Given the description of an element on the screen output the (x, y) to click on. 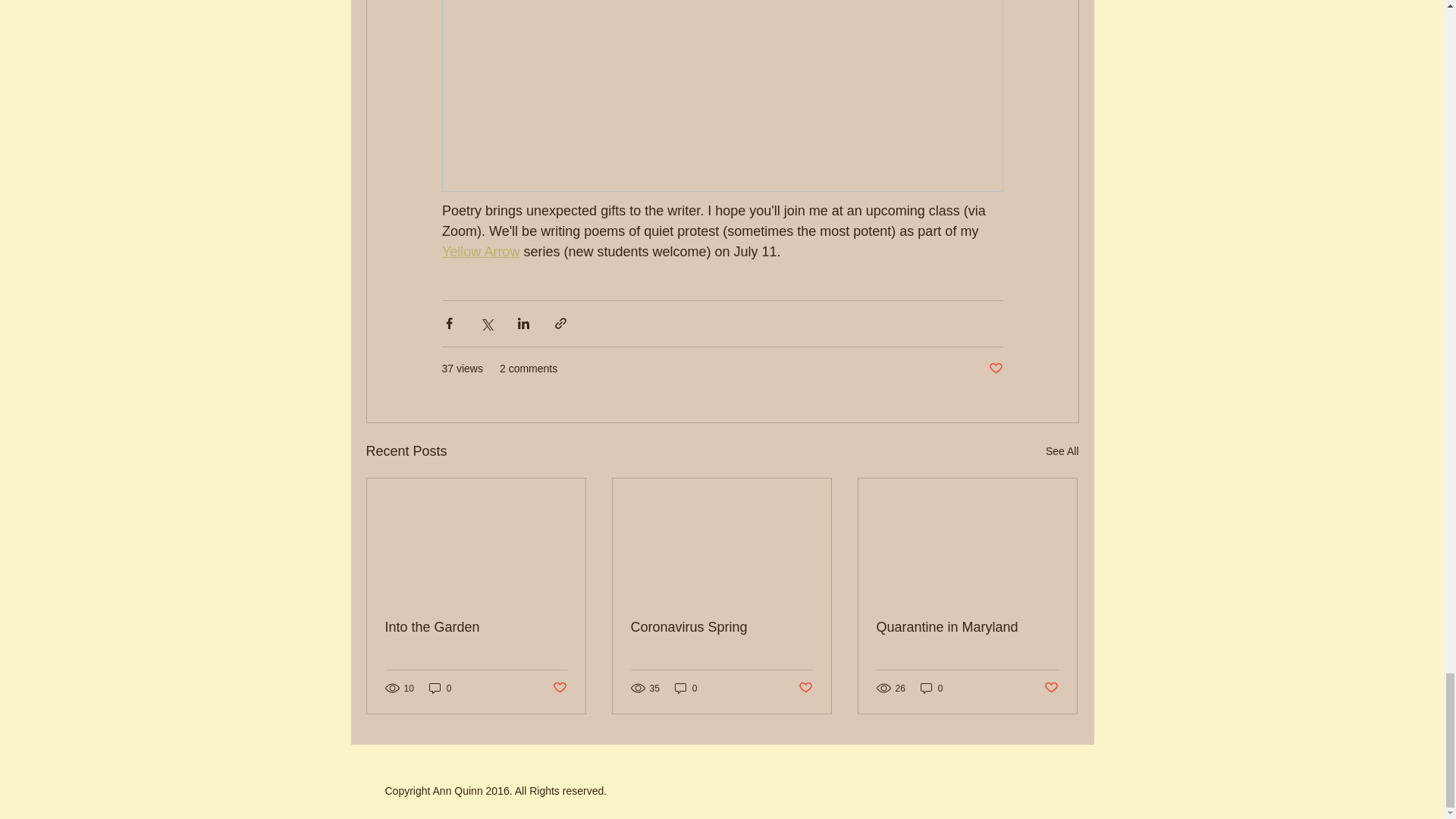
0 (685, 687)
0 (440, 687)
Quarantine in Maryland (967, 627)
Post not marked as liked (1050, 688)
Into the Garden (476, 627)
Post not marked as liked (804, 688)
Post not marked as liked (995, 368)
Coronavirus Spring (721, 627)
Yellow Arrow (479, 251)
Post not marked as liked (558, 688)
